Given the description of an element on the screen output the (x, y) to click on. 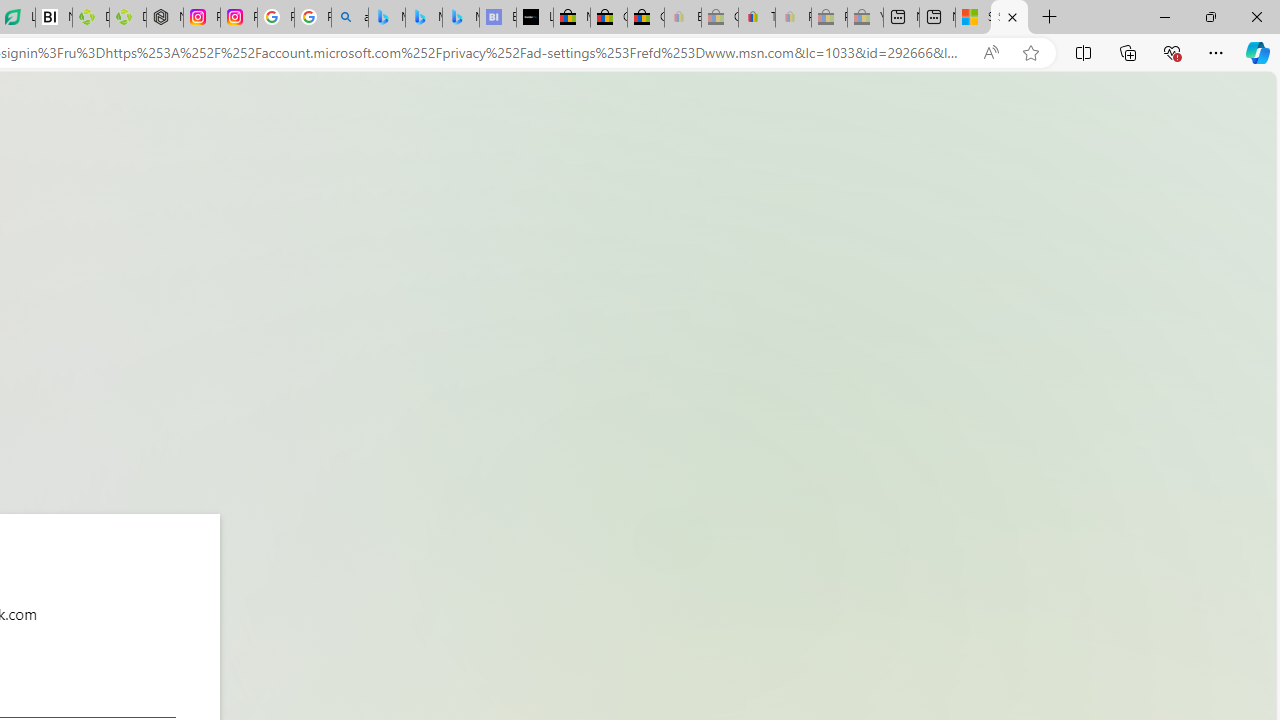
Threats and offensive language policy | eBay (756, 17)
